Given the description of an element on the screen output the (x, y) to click on. 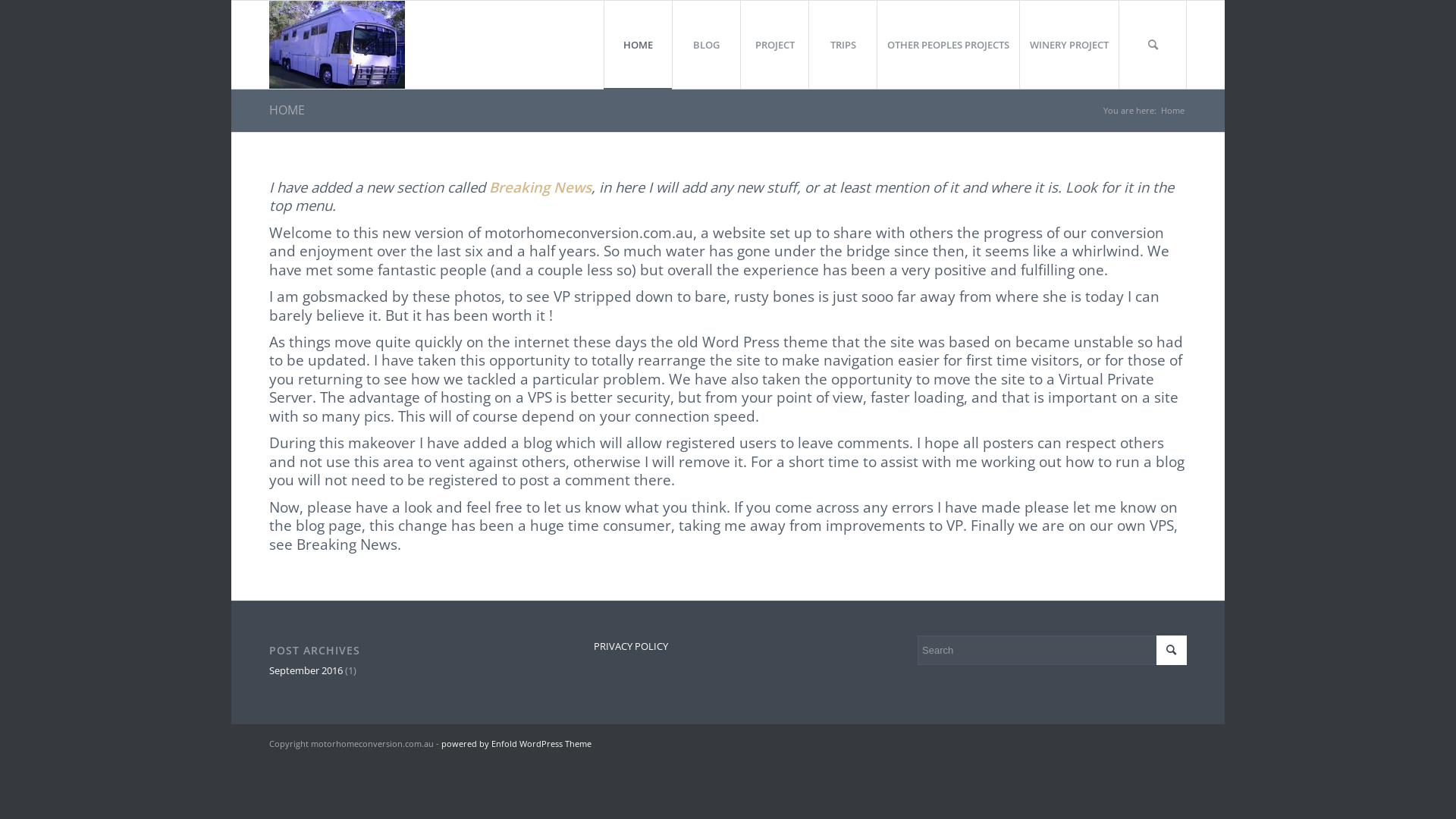
WINERY PROJECT Element type: text (1068, 44)
HOME Element type: text (286, 109)
September 2016 Element type: text (305, 670)
BLOG Element type: text (705, 44)
OTHER PEOPLES PROJECTS Element type: text (947, 44)
powered by Enfold WordPress Theme Element type: text (516, 743)
TRIPS Element type: text (842, 44)
PRIVACY POLICY Element type: text (727, 646)
HOME Element type: text (637, 44)
PROJECT Element type: text (774, 44)
